Given the description of an element on the screen output the (x, y) to click on. 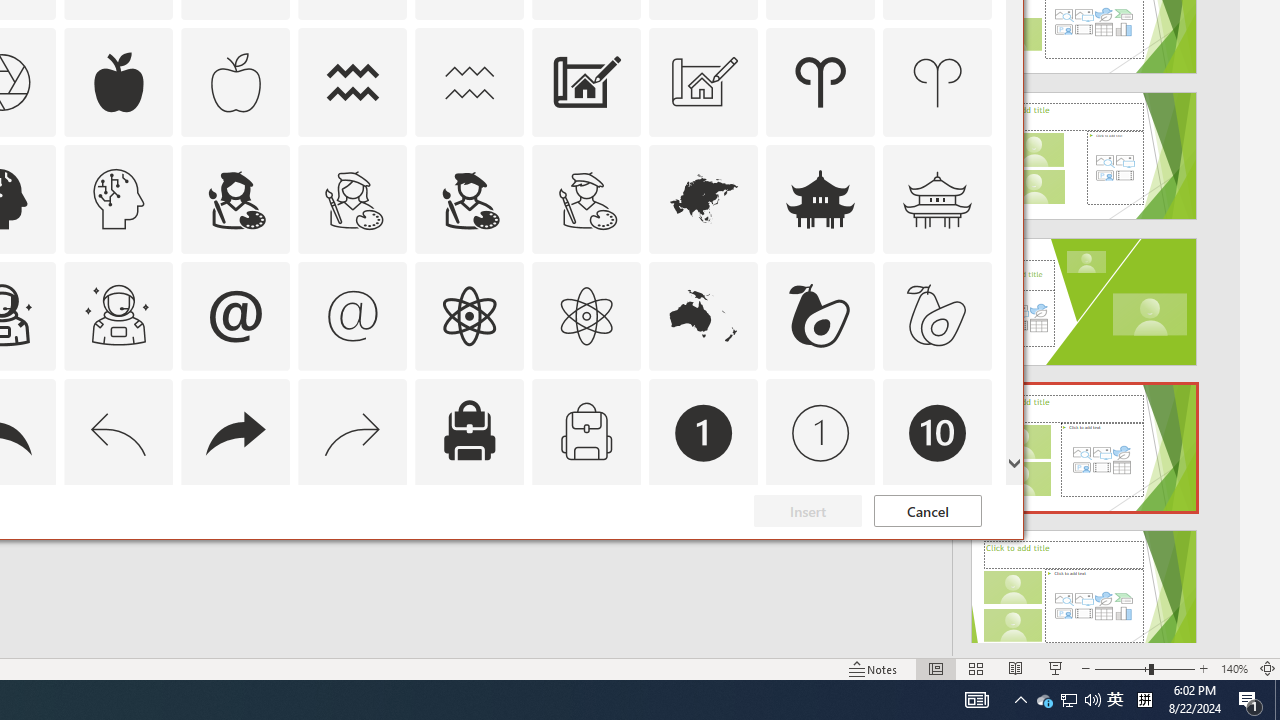
AutomationID: Icons_Back_LTR_M (118, 432)
AutomationID: Icons_Badge8_M (703, 550)
AutomationID: Icons_AsianTemple (820, 198)
Zoom 140% (1234, 668)
AutomationID: Icons_Badge8 (586, 550)
AutomationID: Icons_AsianTemple_M (938, 198)
Thumbnail (977, 511)
AutomationID: Icons_Apple (118, 82)
